Given the description of an element on the screen output the (x, y) to click on. 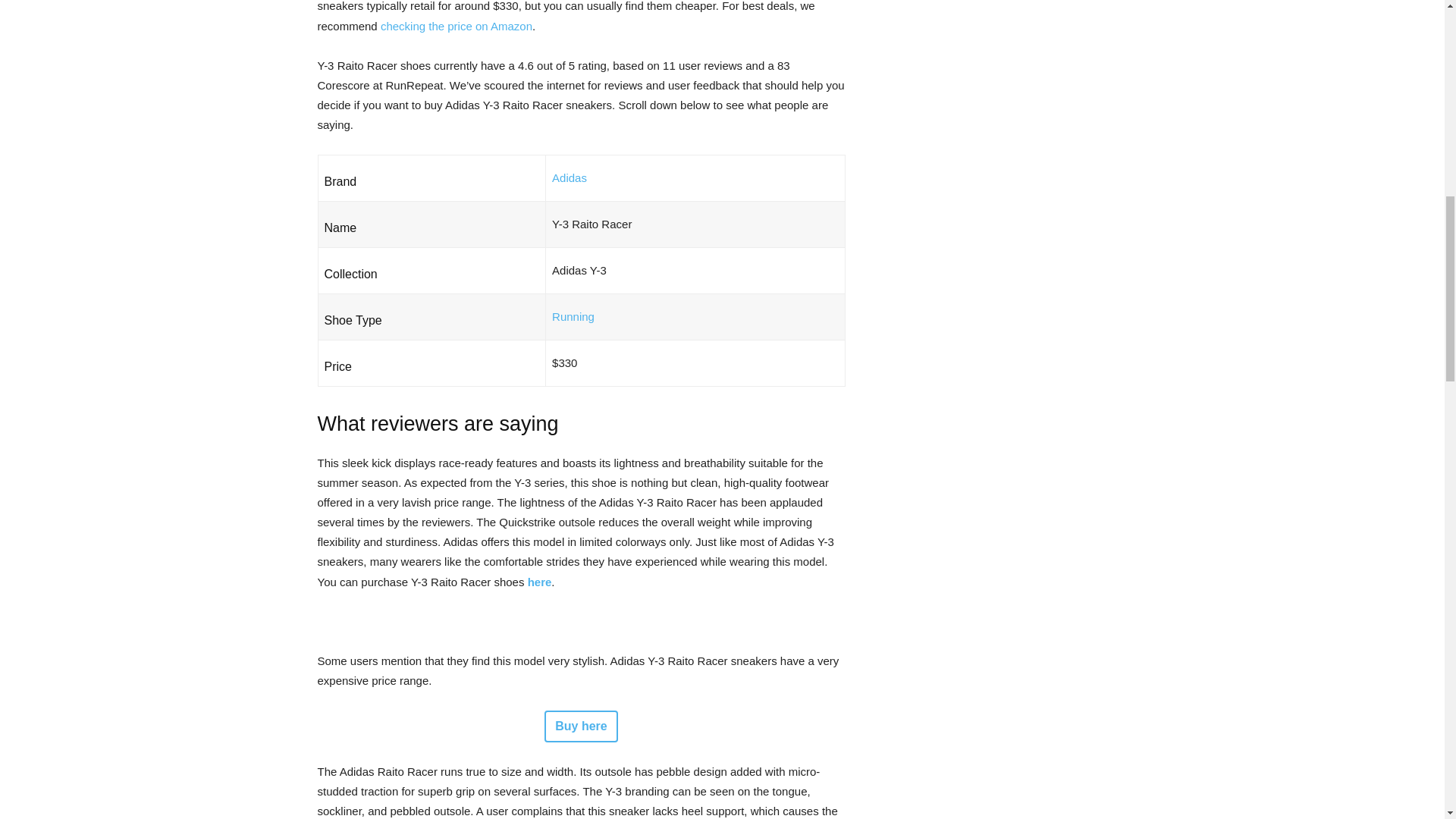
buy Y-3 Raito Racer (539, 581)
Best Running shoes (572, 316)
Best Adidas shoes (568, 177)
